Given the description of an element on the screen output the (x, y) to click on. 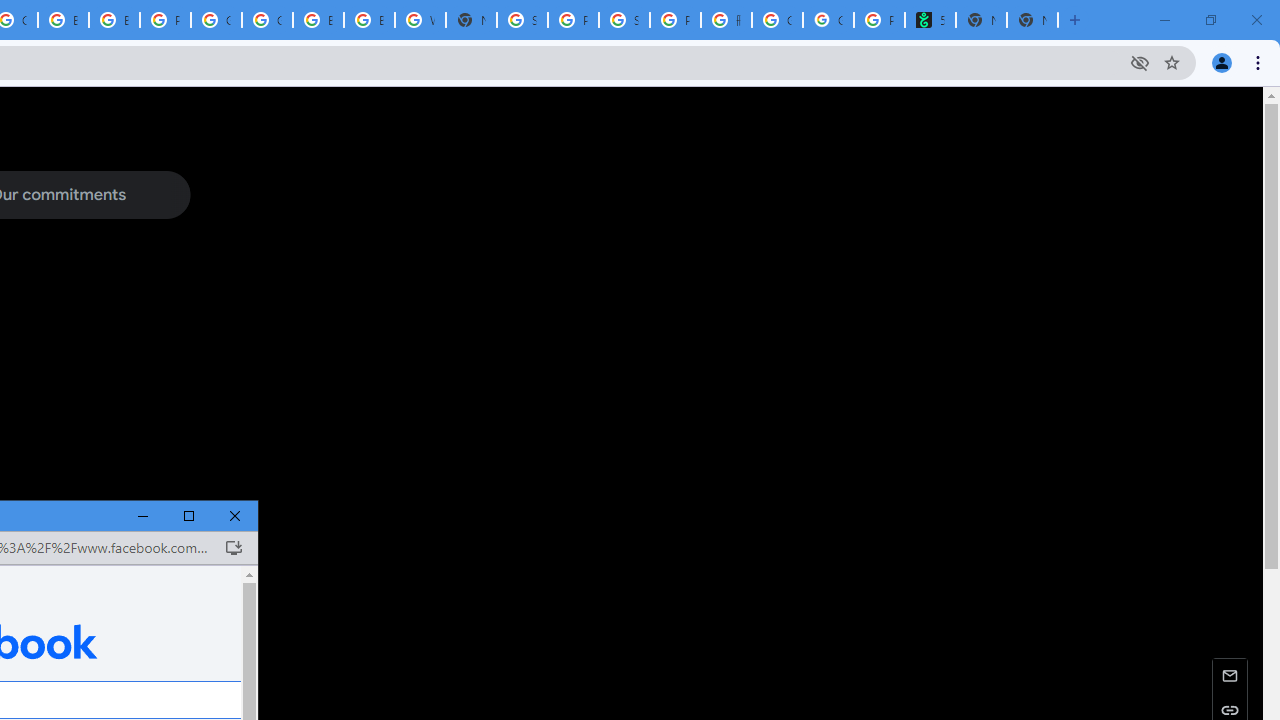
Maximize (189, 516)
Install Facebook (233, 547)
